Given the description of an element on the screen output the (x, y) to click on. 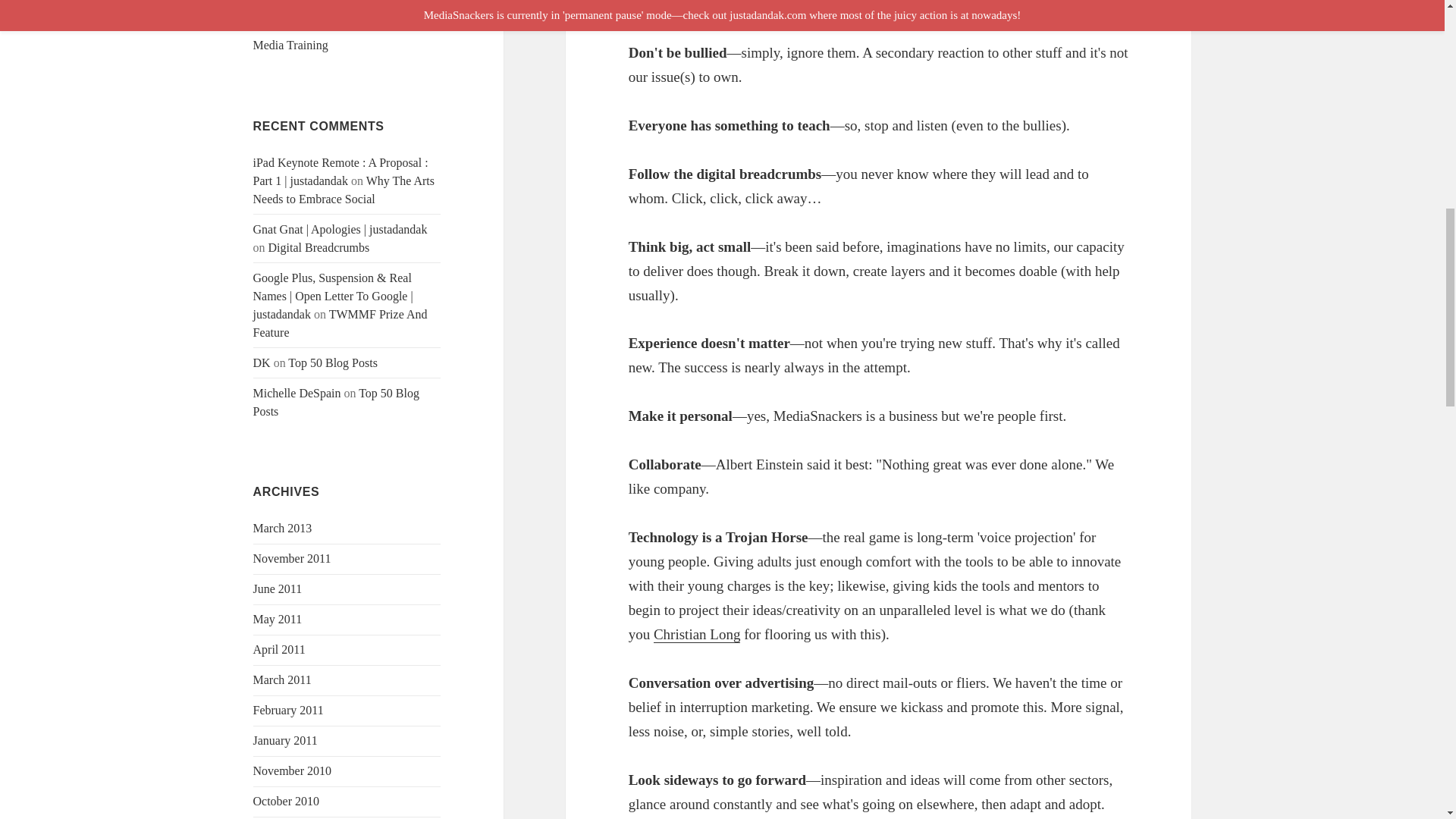
How To Deliver Kick Ass Social Media Training (332, 35)
January 2011 (285, 739)
November 2010 (292, 770)
February 2011 (288, 709)
Digital Breadcrumbs (318, 246)
DK (261, 362)
Top 50 Blog Posts (336, 401)
October 2010 (286, 800)
Why The Arts Needs to Embrace Social (343, 189)
April 2011 (279, 649)
March 2011 (282, 679)
Michelle DeSpain (296, 392)
March 2013 (283, 527)
June 2011 (277, 588)
TWMMF Prize And Feature (340, 323)
